Given the description of an element on the screen output the (x, y) to click on. 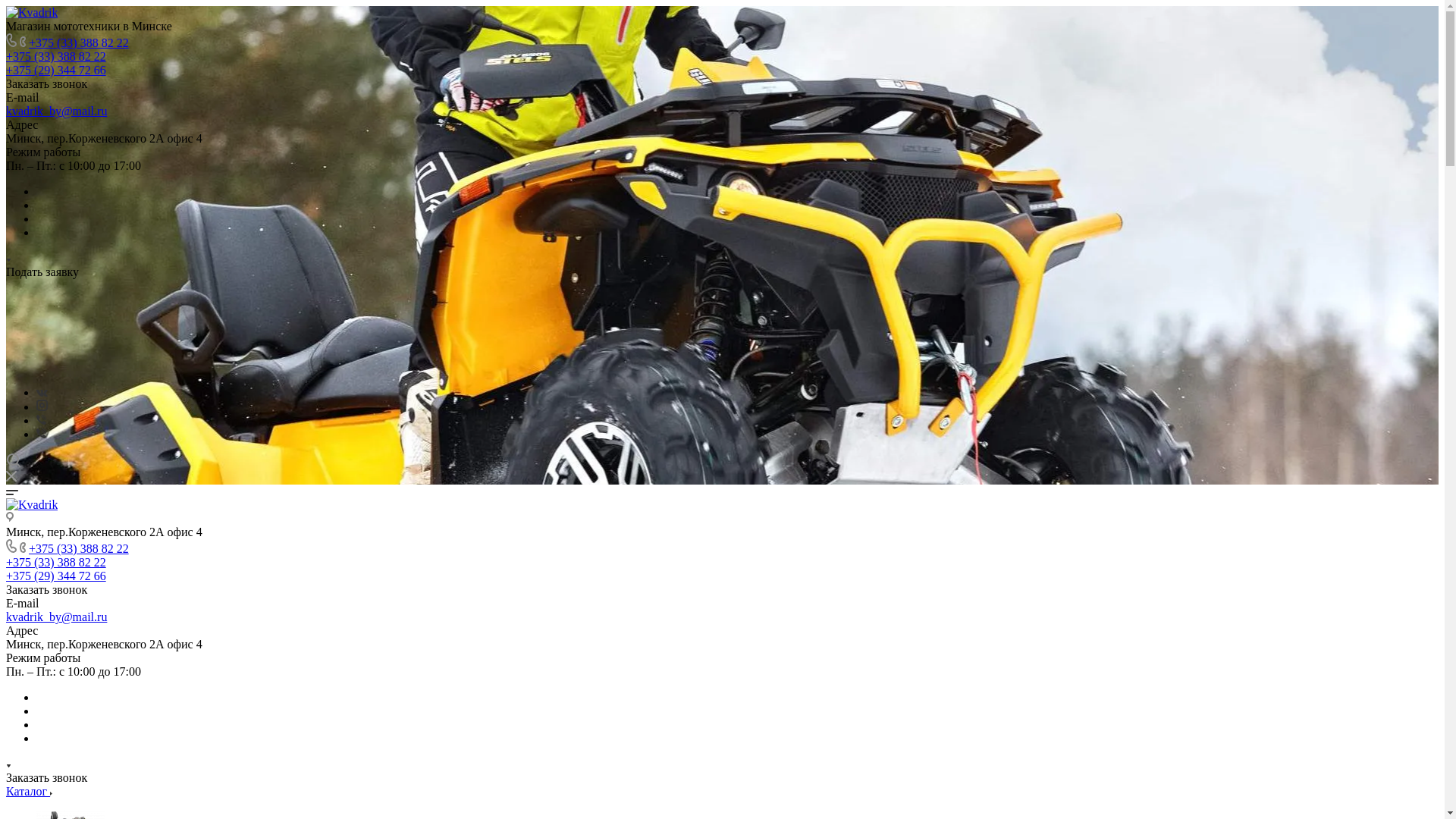
+375 (33) 388 82 22 Element type: text (56, 561)
Viber Element type: hover (41, 433)
kvadrik_by@mail.ru Element type: text (56, 616)
+375 (33) 388 82 22 Element type: text (56, 56)
+375 (29) 344 72 66 Element type: text (56, 69)
Kvadrik Element type: hover (31, 504)
kvadrik_by@mail.ru Element type: text (56, 110)
Viber Element type: hover (41, 420)
+375 (33) 388 82 22 Element type: text (78, 548)
+375 (29) 344 72 66 Element type: text (56, 575)
Kvadrik Element type: hover (31, 12)
Instagram Element type: hover (41, 406)
+375 (33) 388 82 22 Element type: text (78, 42)
